Given the description of an element on the screen output the (x, y) to click on. 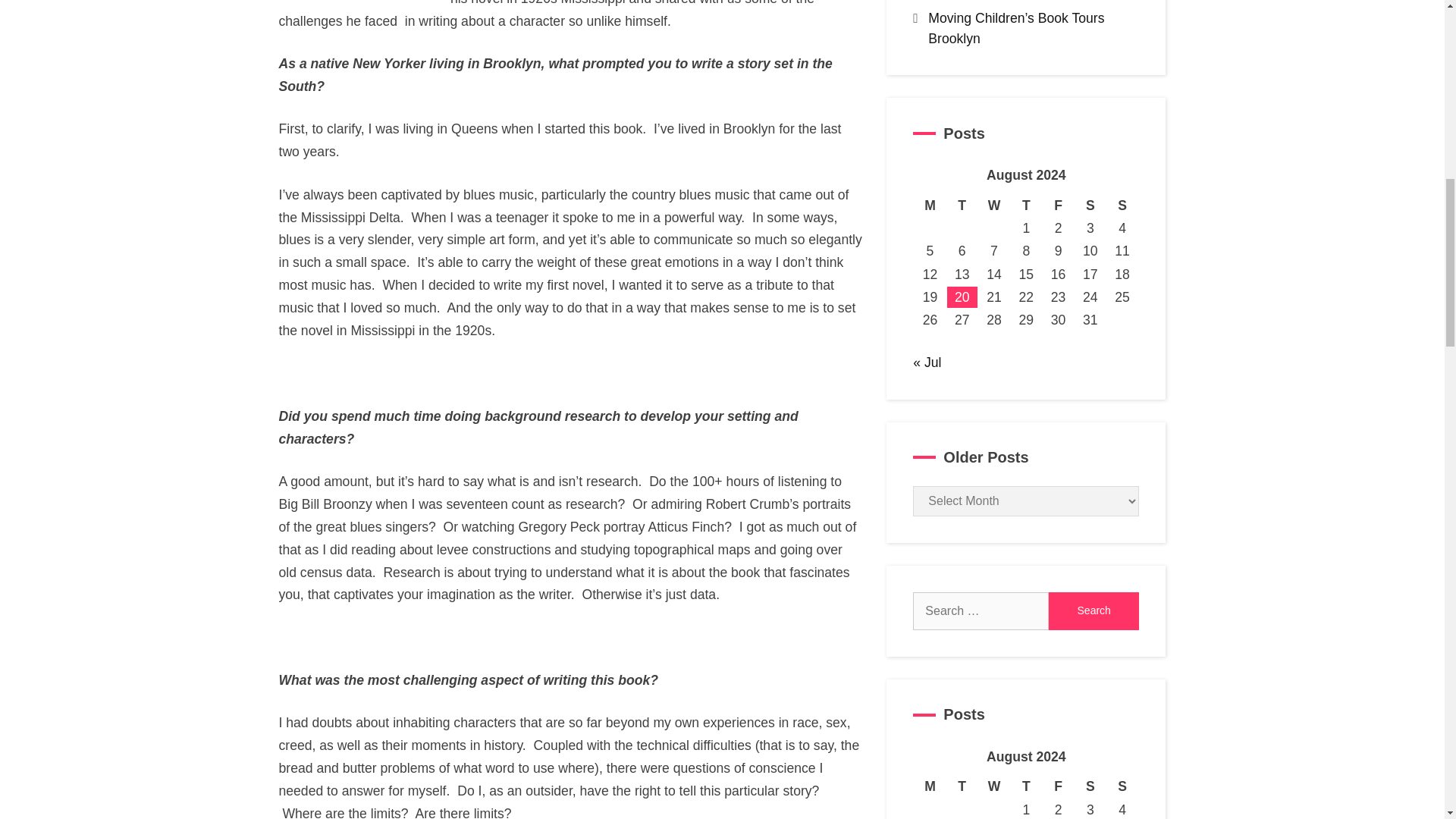
Friday (1057, 785)
Search (1093, 610)
Wednesday (993, 204)
Friday (1057, 204)
Monday (929, 204)
Sunday (1121, 204)
Tuesday (961, 204)
Thursday (1025, 785)
Search (1093, 610)
Wednesday (993, 785)
